Given the description of an element on the screen output the (x, y) to click on. 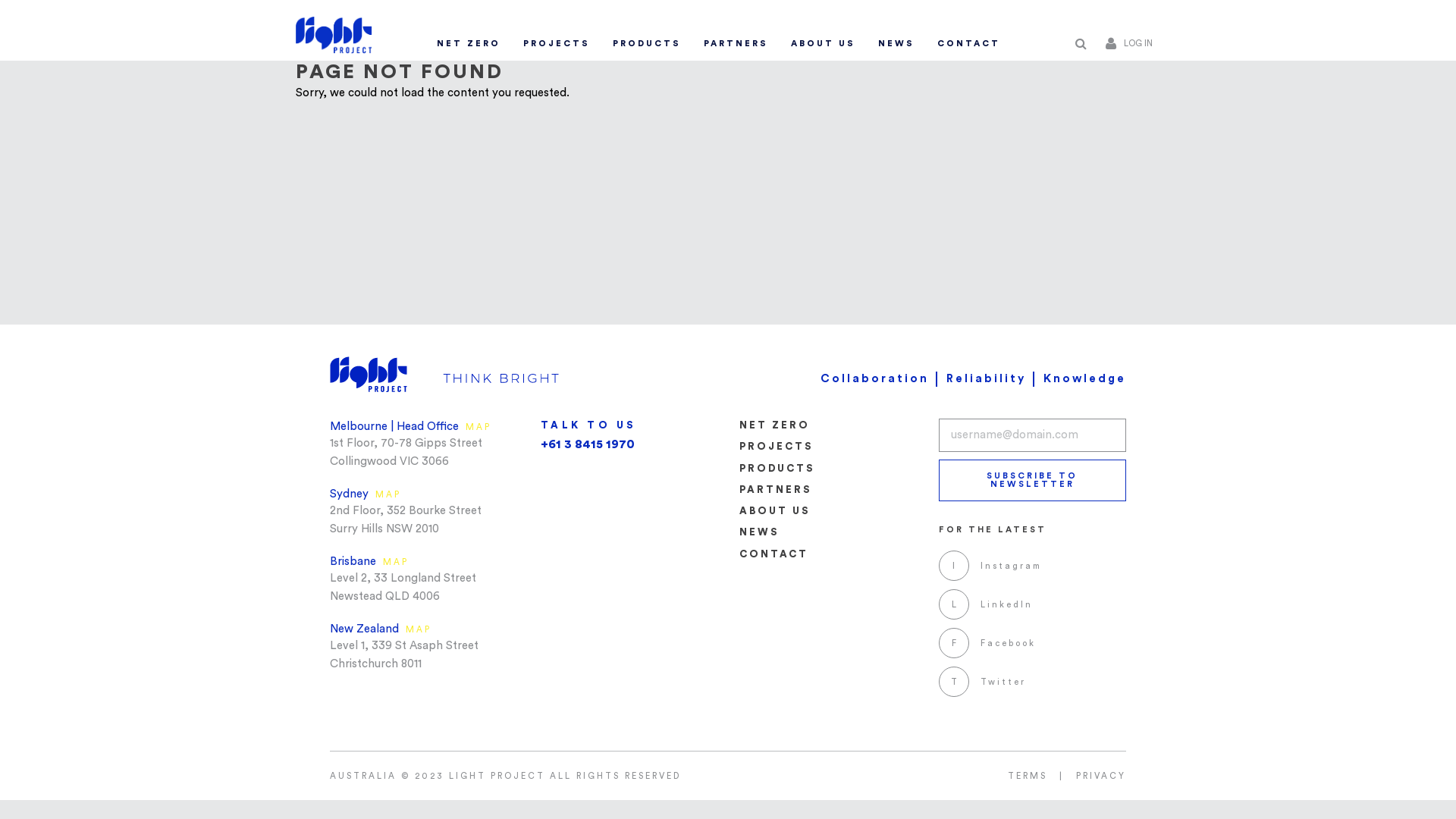
CONTACT Element type: text (968, 43)
ABOUT US Element type: text (774, 510)
ABOUT US Element type: text (822, 43)
CONTACT Element type: text (773, 553)
Light Project SCA Element type: hover (333, 30)
LLinkedIn Element type: text (985, 603)
TERMS Element type: text (1023, 775)
MAP Element type: text (395, 562)
MAP Element type: text (418, 629)
LOG IN Element type: text (1132, 43)
PRODUCTS Element type: text (776, 468)
PRIVACY Element type: text (1097, 775)
MAP Element type: text (478, 427)
IInstagram Element type: text (989, 565)
PROJECTS Element type: text (775, 446)
PARTNERS Element type: text (775, 489)
+61 3 8415 1970 Element type: text (586, 444)
PARTNERS Element type: text (735, 43)
NET ZERO Element type: text (468, 43)
NEWS Element type: text (896, 43)
NEWS Element type: text (758, 531)
MAP Element type: text (388, 494)
NET ZERO Element type: text (774, 424)
PROJECTS Element type: text (556, 43)
Search Element type: hover (1081, 43)
FFacebook Element type: text (986, 642)
SUBSCRIBE TO NEWSLETTER Element type: text (1032, 480)
TTwitter Element type: text (982, 681)
PRODUCTS Element type: text (646, 43)
